Given the description of an element on the screen output the (x, y) to click on. 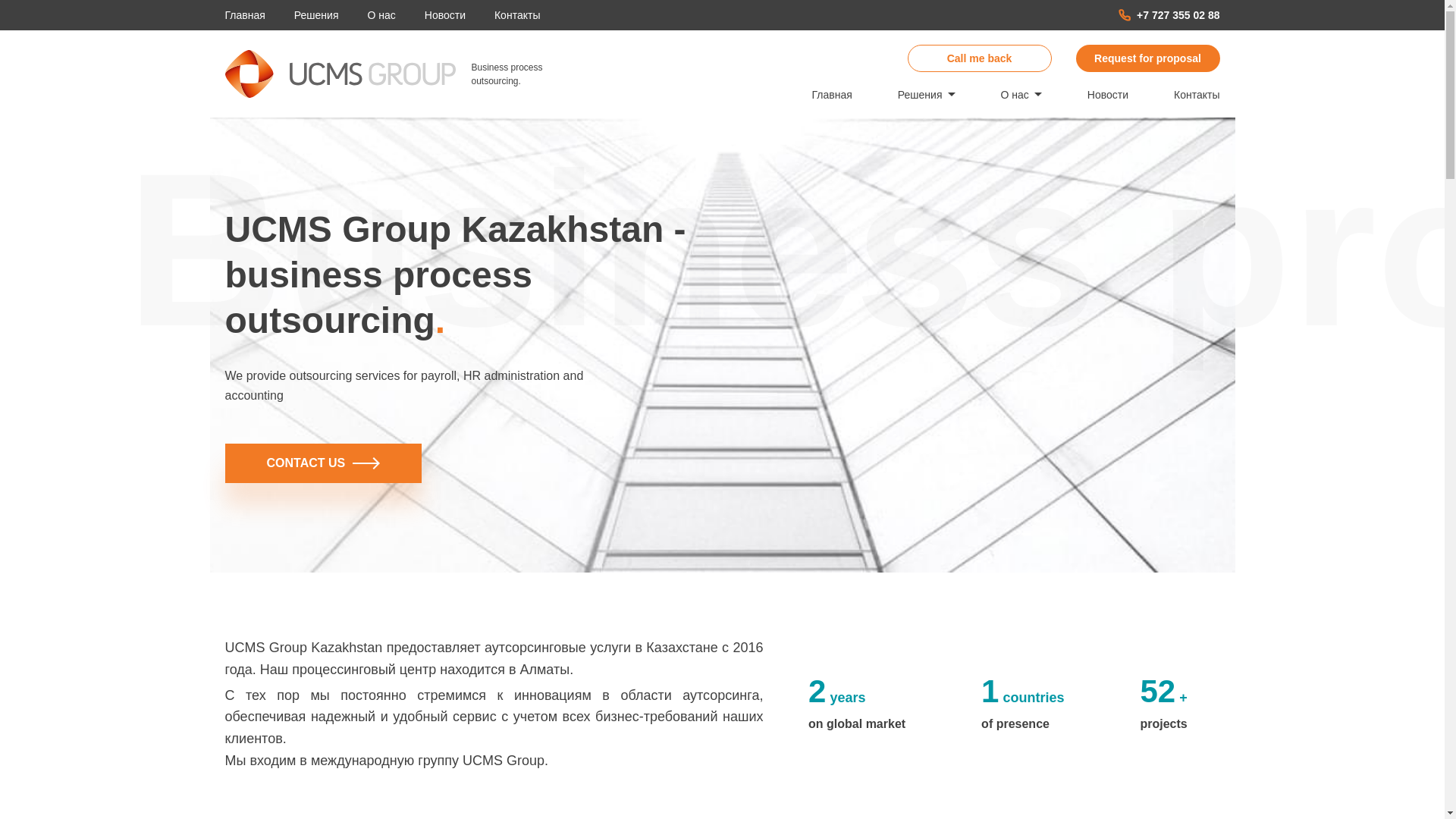
Request for proposal (1147, 58)
Call me back (979, 58)
Business process outsourcing. (385, 73)
CONTACT US (323, 463)
